Given the description of an element on the screen output the (x, y) to click on. 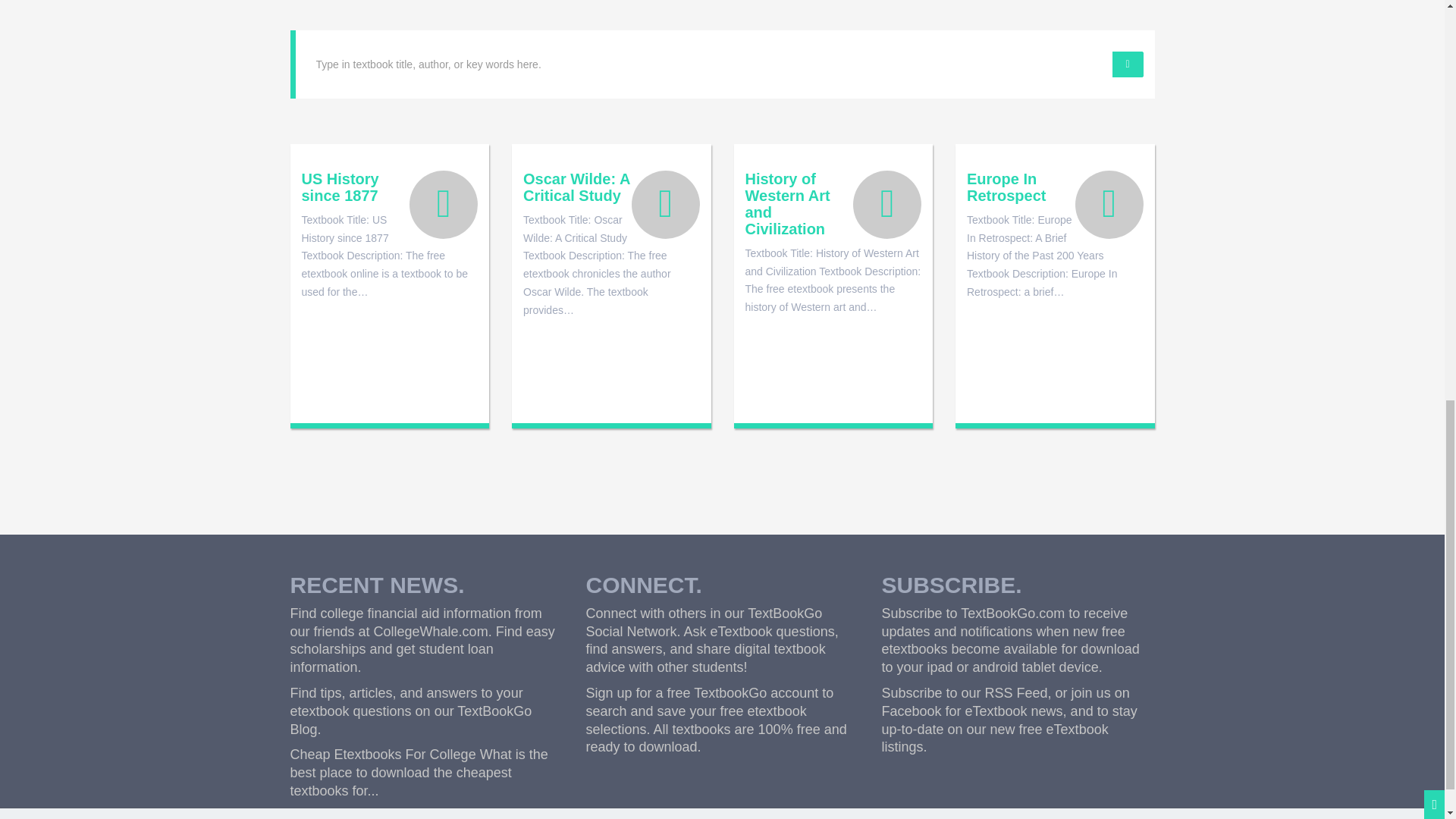
Facebook (910, 711)
Facebook (910, 711)
CollegeWhale.com (430, 631)
Oscar Wilde: A Critical Study (611, 186)
History of Western Art and Civilization (832, 203)
US History since 1877 (390, 186)
Europe In Retrospect (1054, 186)
Cheap Etextbooks For College (382, 754)
RSS Feed (1016, 693)
